Given the description of an element on the screen output the (x, y) to click on. 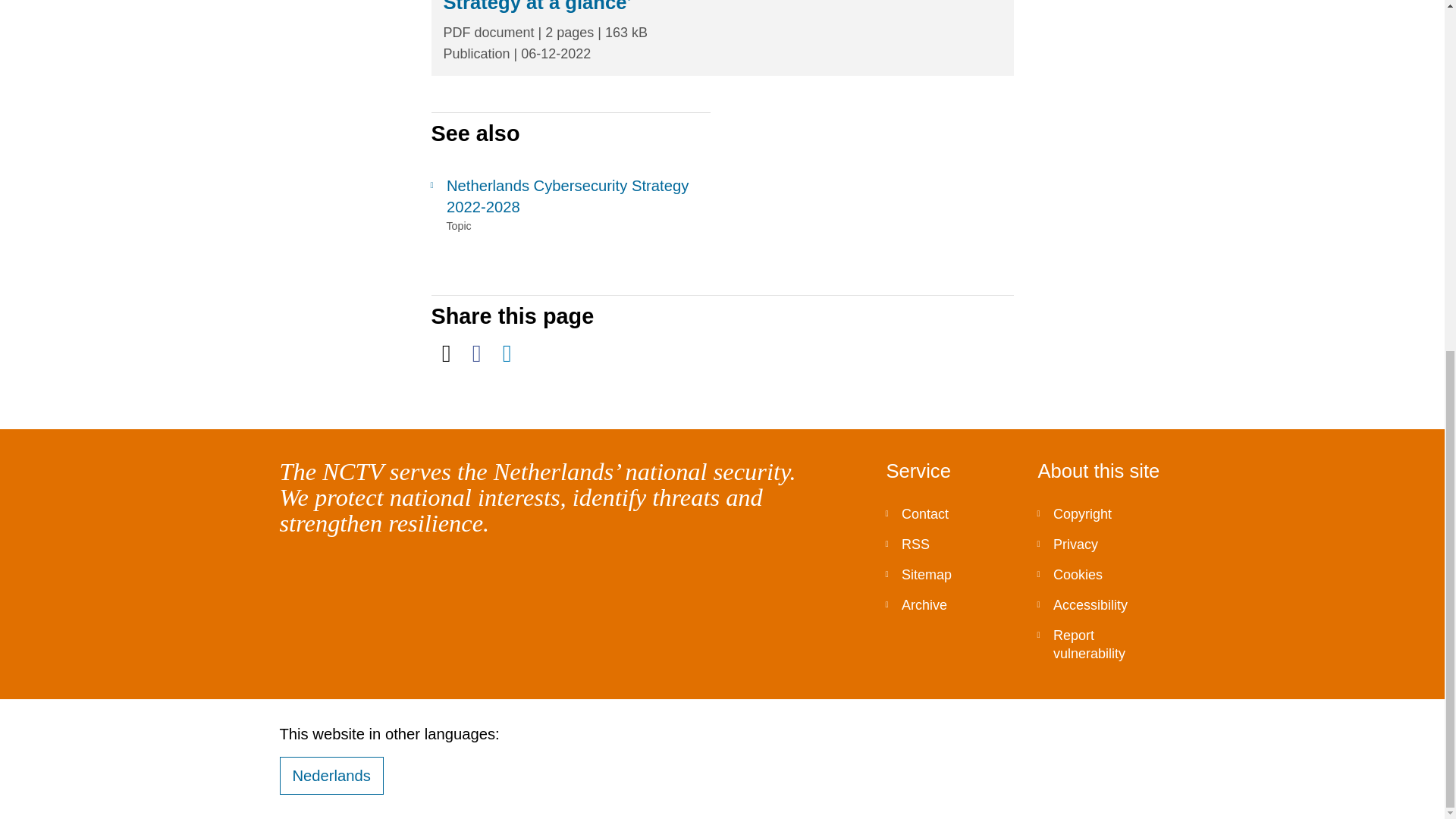
Contact (949, 513)
Copyright (1100, 513)
Netherlands Cybersecurity Strategy 2022-2028 (570, 196)
Sitemap (949, 574)
RSS (949, 544)
Cookies (1100, 574)
Share this page on your Twitter account (445, 353)
Nederlands (330, 775)
Archive (949, 604)
Share this page on your LinkedIn account (506, 353)
Report vulnerability (1100, 644)
Share this page on your Facebook account (476, 353)
Privacy (1100, 544)
Accessibility (1100, 604)
